Given the description of an element on the screen output the (x, y) to click on. 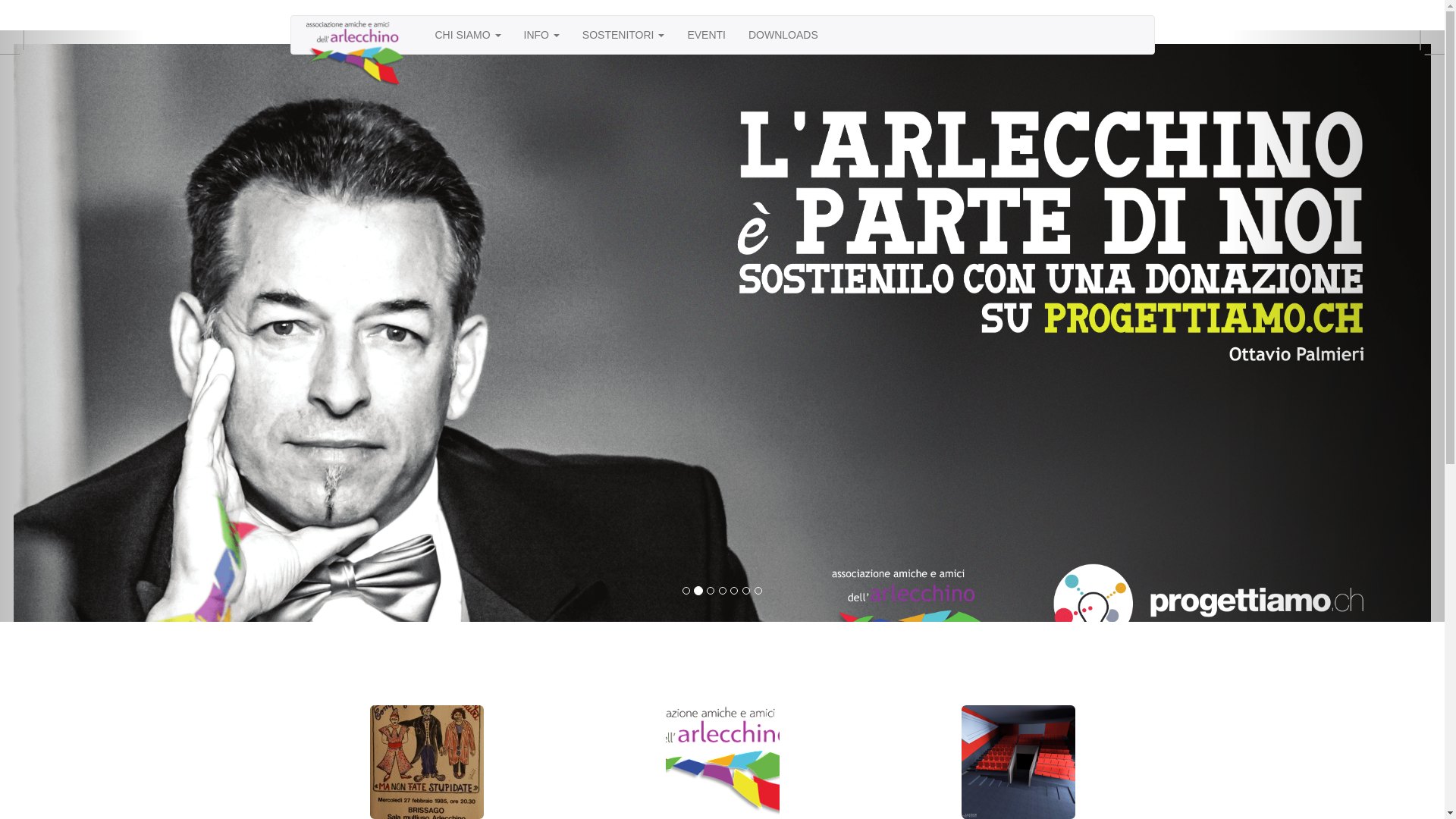
DOWNLOADS Element type: text (783, 34)
Previous Element type: text (72, 325)
INFO Element type: text (541, 34)
EVENTI Element type: text (706, 34)
Next Element type: text (1335, 325)
SOSTENITORI Element type: text (623, 34)
CHI SIAMO Element type: text (467, 34)
